Given the description of an element on the screen output the (x, y) to click on. 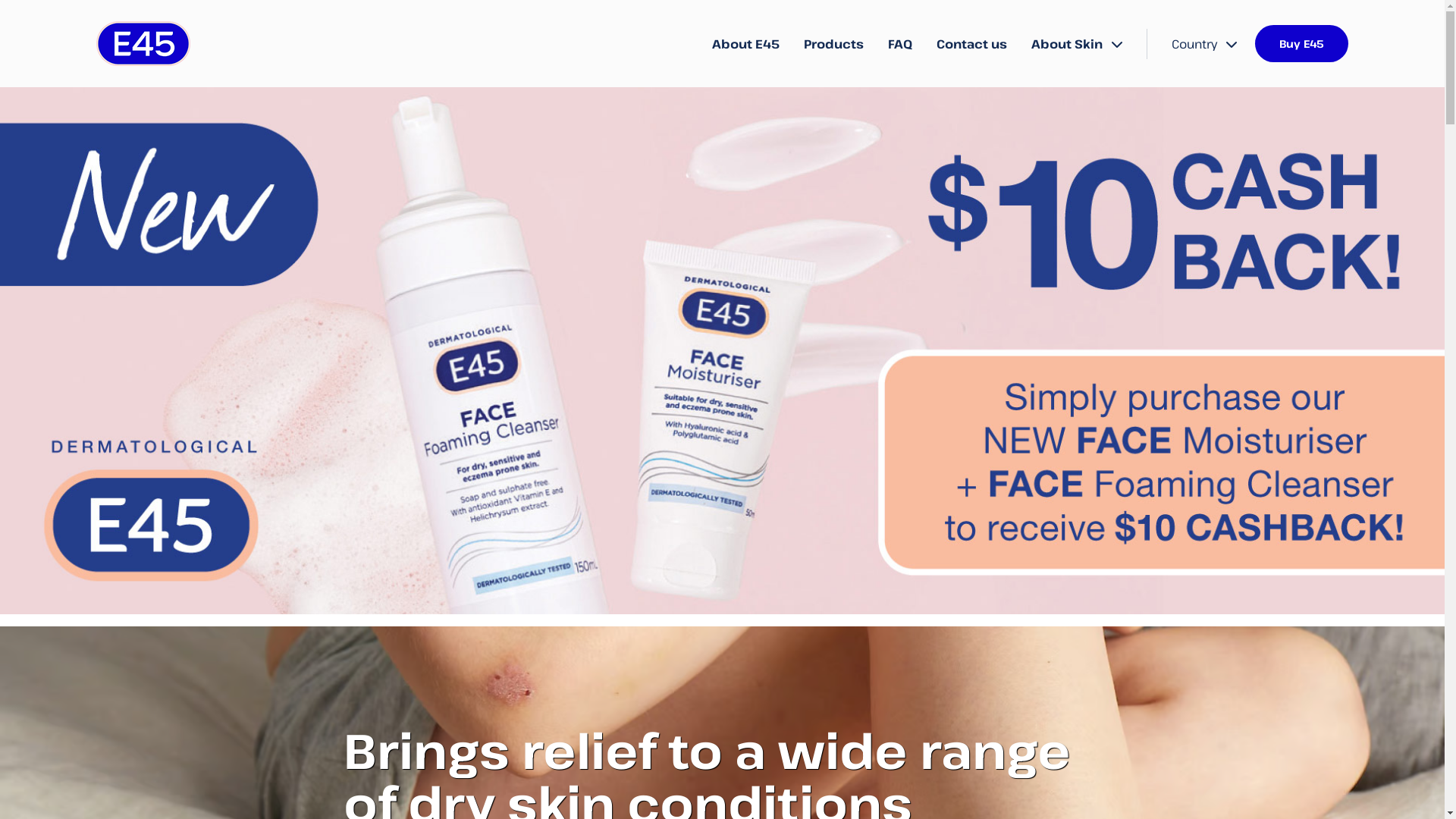
Country Element type: text (1203, 43)
About Skin Element type: text (1076, 43)
Buy E45 Element type: text (1301, 43)
E45 Element type: hover (143, 43)
About E45 Element type: text (745, 43)
Products Element type: text (833, 43)
Contact us Element type: text (971, 43)
FAQ Element type: text (900, 43)
